Given the description of an element on the screen output the (x, y) to click on. 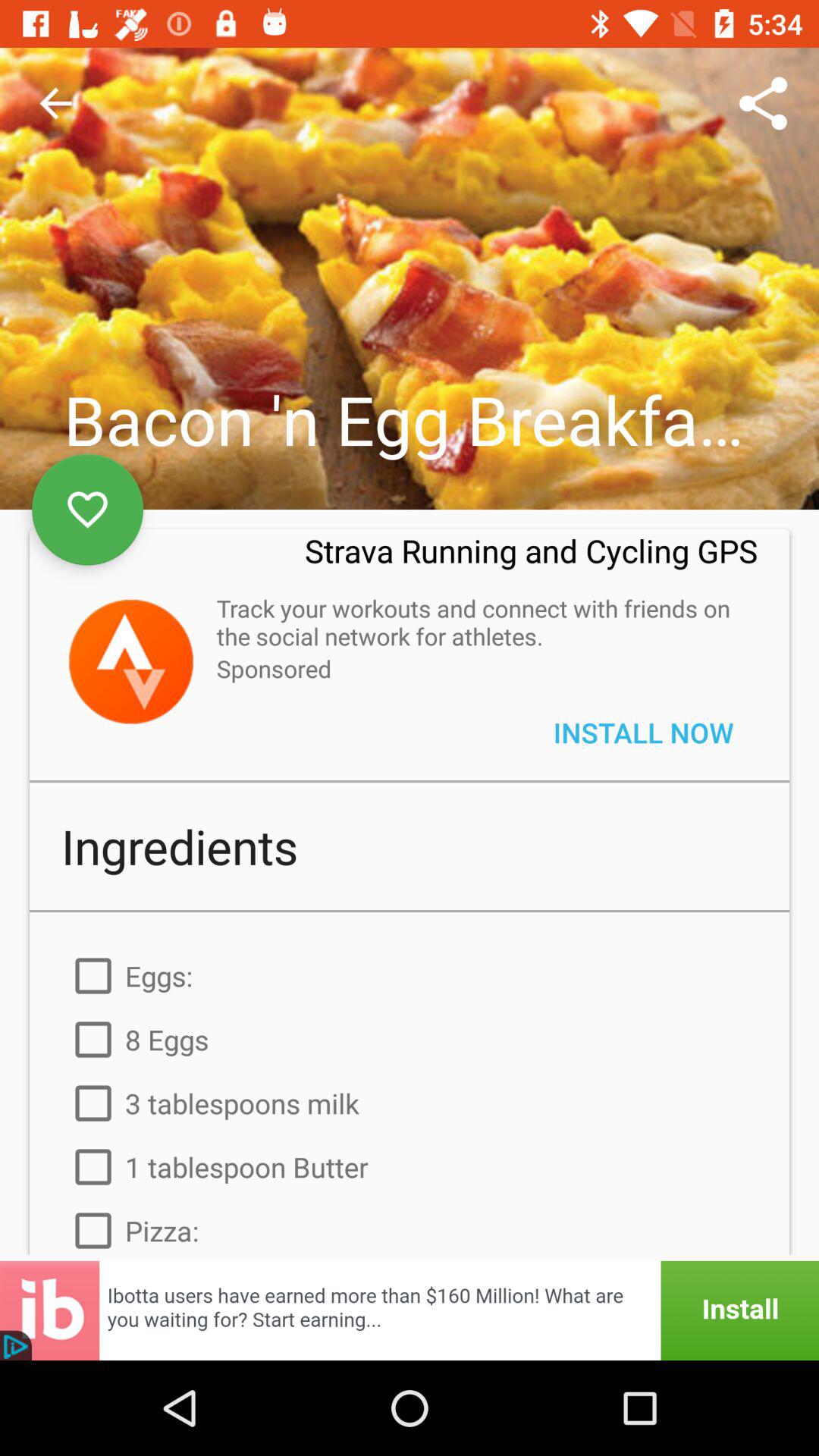
turn off the pizza:  item (409, 1226)
